Given the description of an element on the screen output the (x, y) to click on. 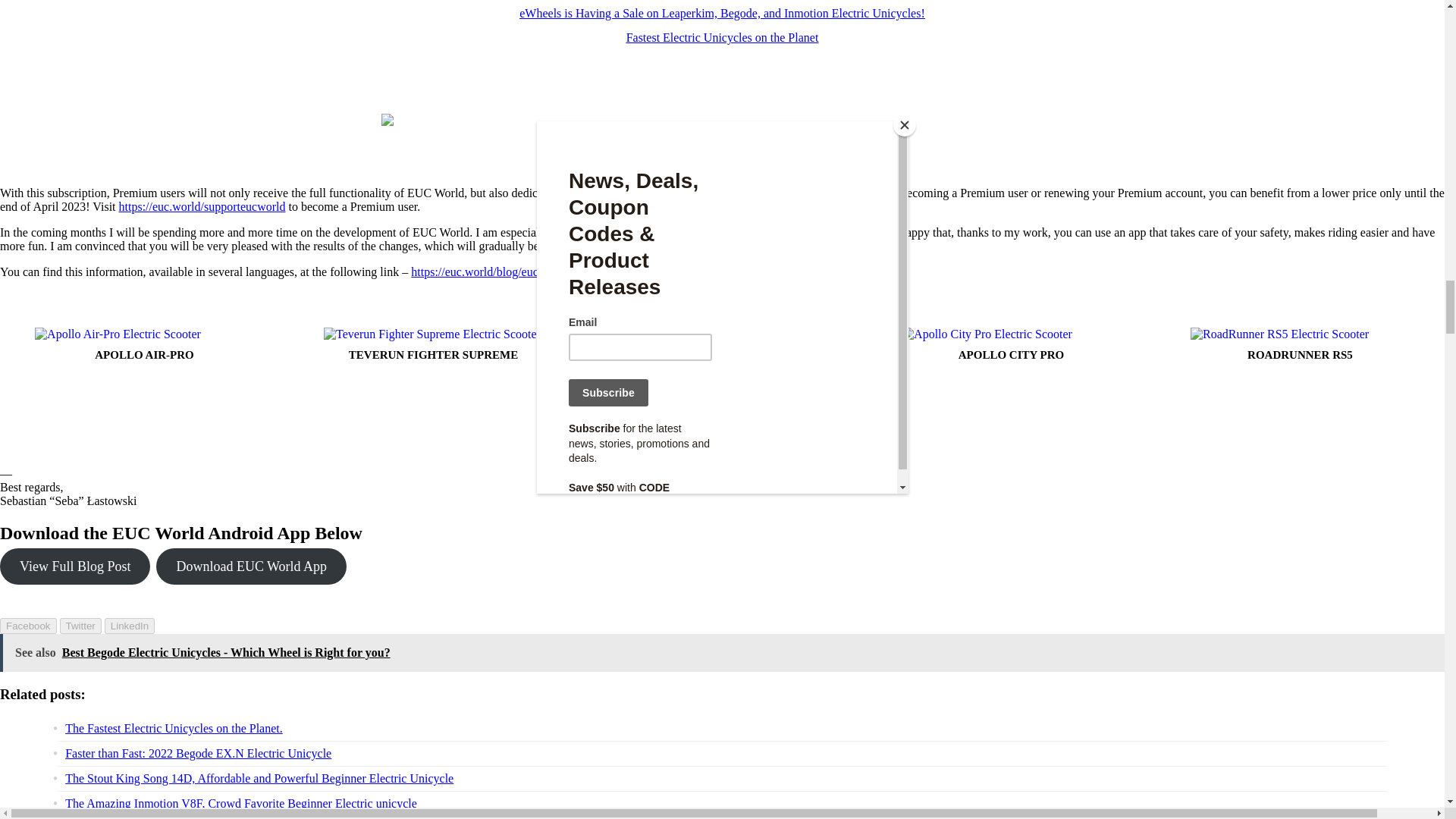
The Fastest Electric Unicycles on the Planet. (173, 727)
Faster than Fast: 2022 Begode EX.N Electric Unicycle (198, 753)
